Given the description of an element on the screen output the (x, y) to click on. 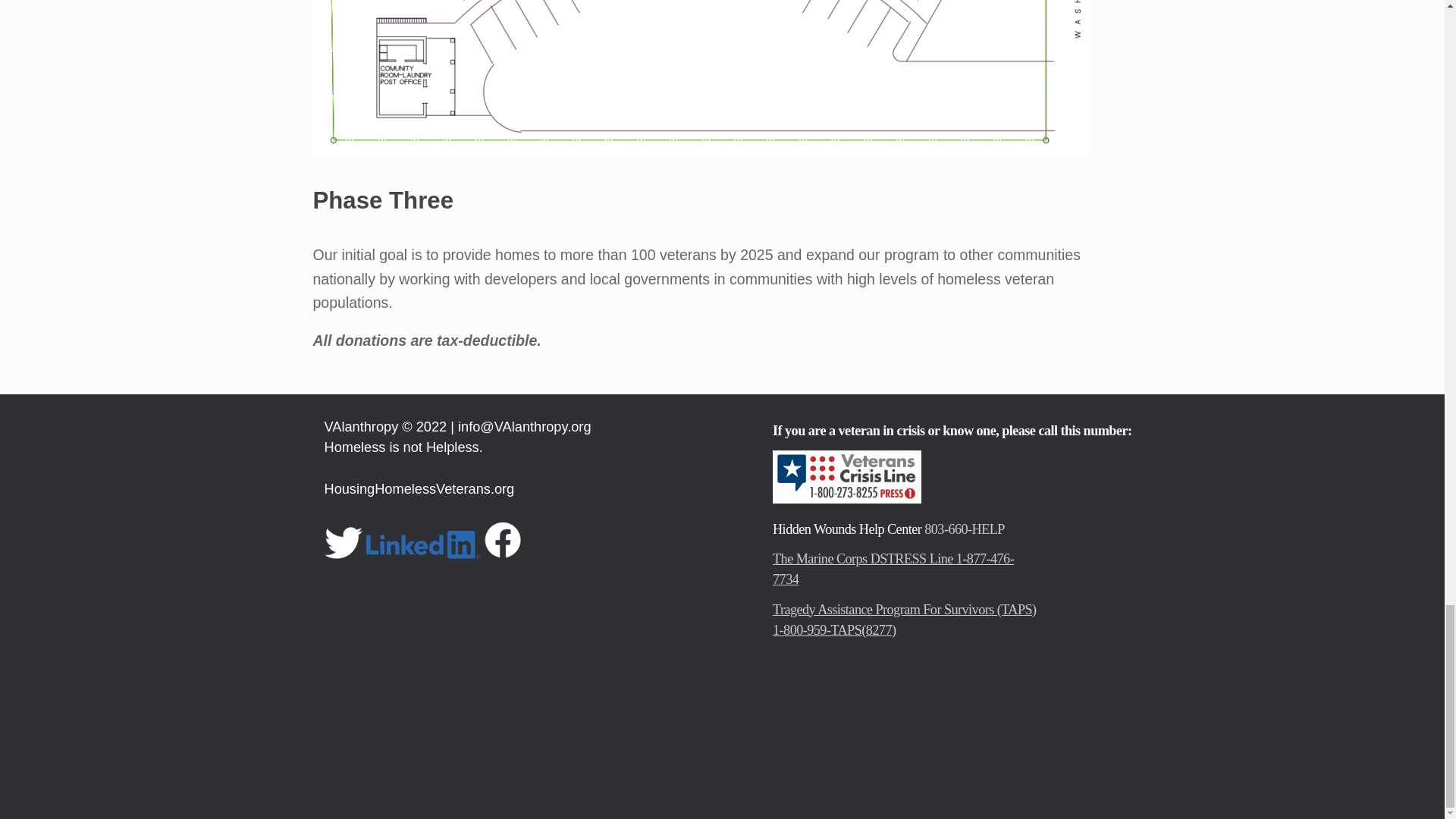
The Marine Corps DSTRESS Line 1-877-476-7734 (893, 569)
803-660-HELP (964, 529)
